Given the description of an element on the screen output the (x, y) to click on. 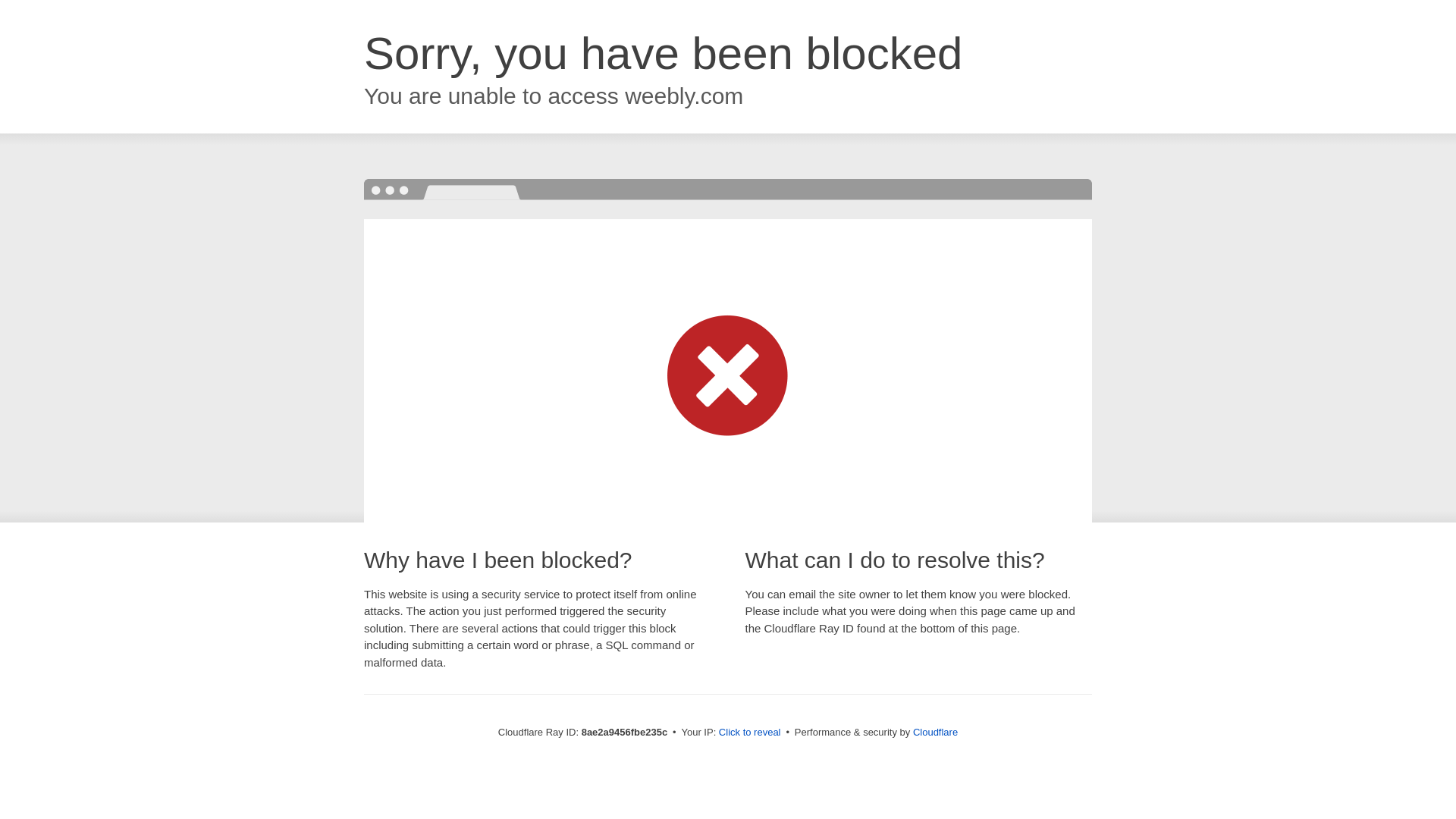
Click to reveal (749, 732)
Cloudflare (935, 731)
